Given the description of an element on the screen output the (x, y) to click on. 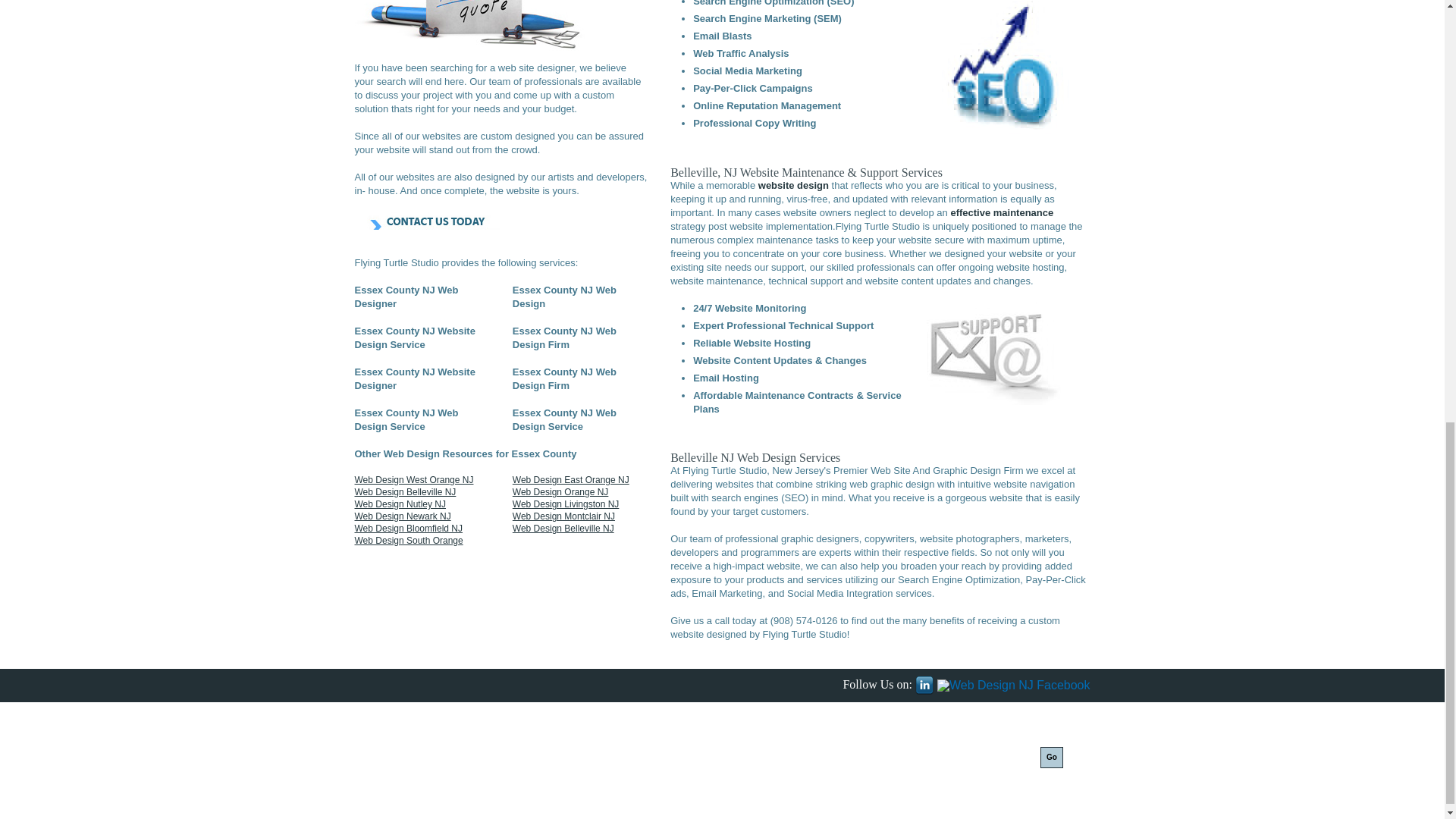
Essex County Web Design Orange NJ (560, 491)
Essex County Web Design South Orange (406, 491)
Web Design South Orange (409, 540)
Web Design Livingston NJ (566, 503)
Go (1051, 757)
Web Design East Orange NJ (570, 479)
Essex County Web Design Montclair NJ (563, 515)
Web Design West Orange NJ (414, 479)
Essex County Web Design West Orange (414, 479)
Web Design Orange NJ (560, 491)
